Given the description of an element on the screen output the (x, y) to click on. 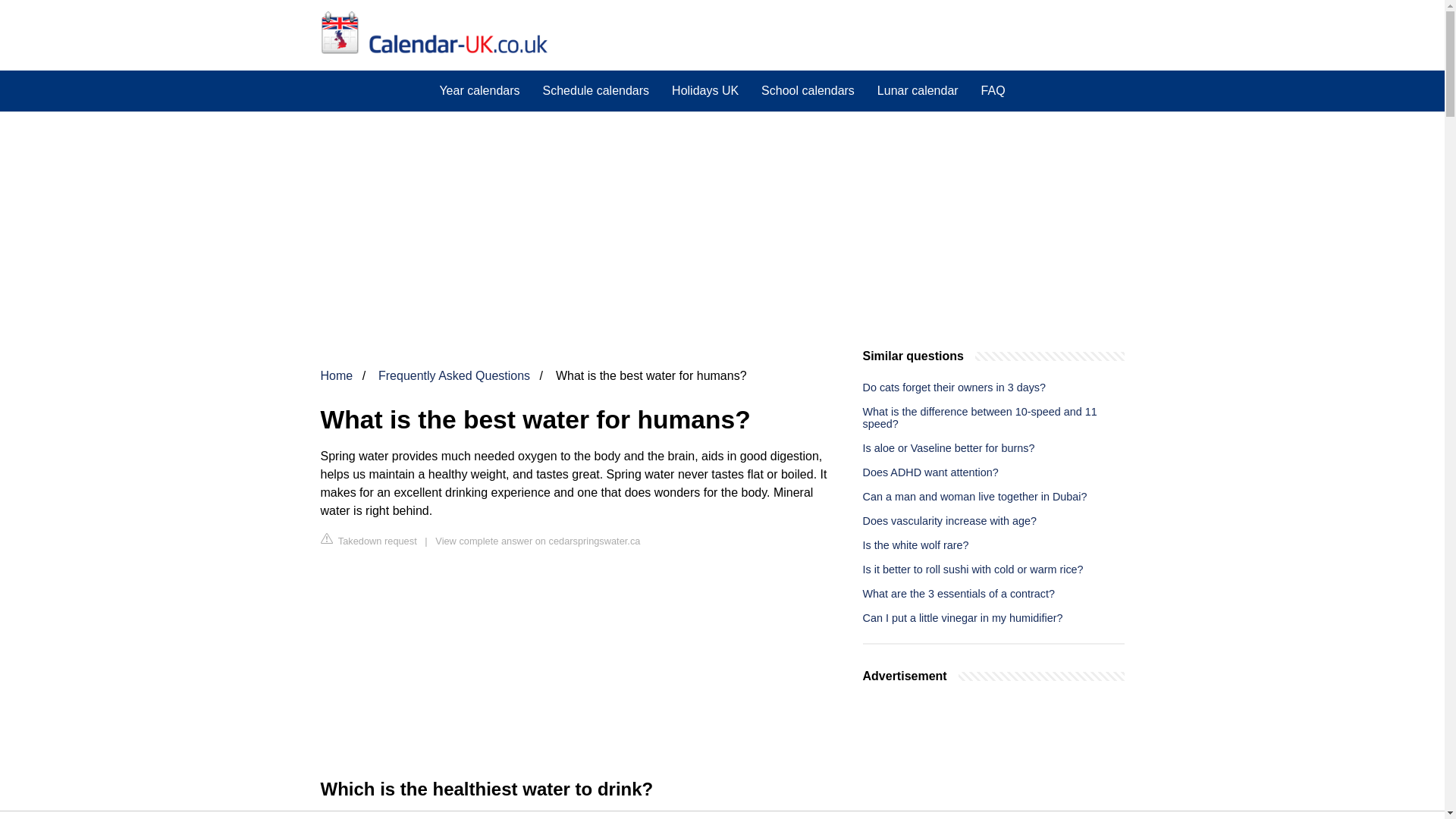
Home (336, 375)
School calendars (807, 90)
Year calendars (479, 90)
Holidays UK (705, 90)
View complete answer on cedarspringswater.ca (537, 541)
Lunar calendar (917, 90)
FAQ (992, 90)
Schedule calendars (596, 90)
Frequently Asked Questions (453, 375)
Takedown request (368, 539)
